Given the description of an element on the screen output the (x, y) to click on. 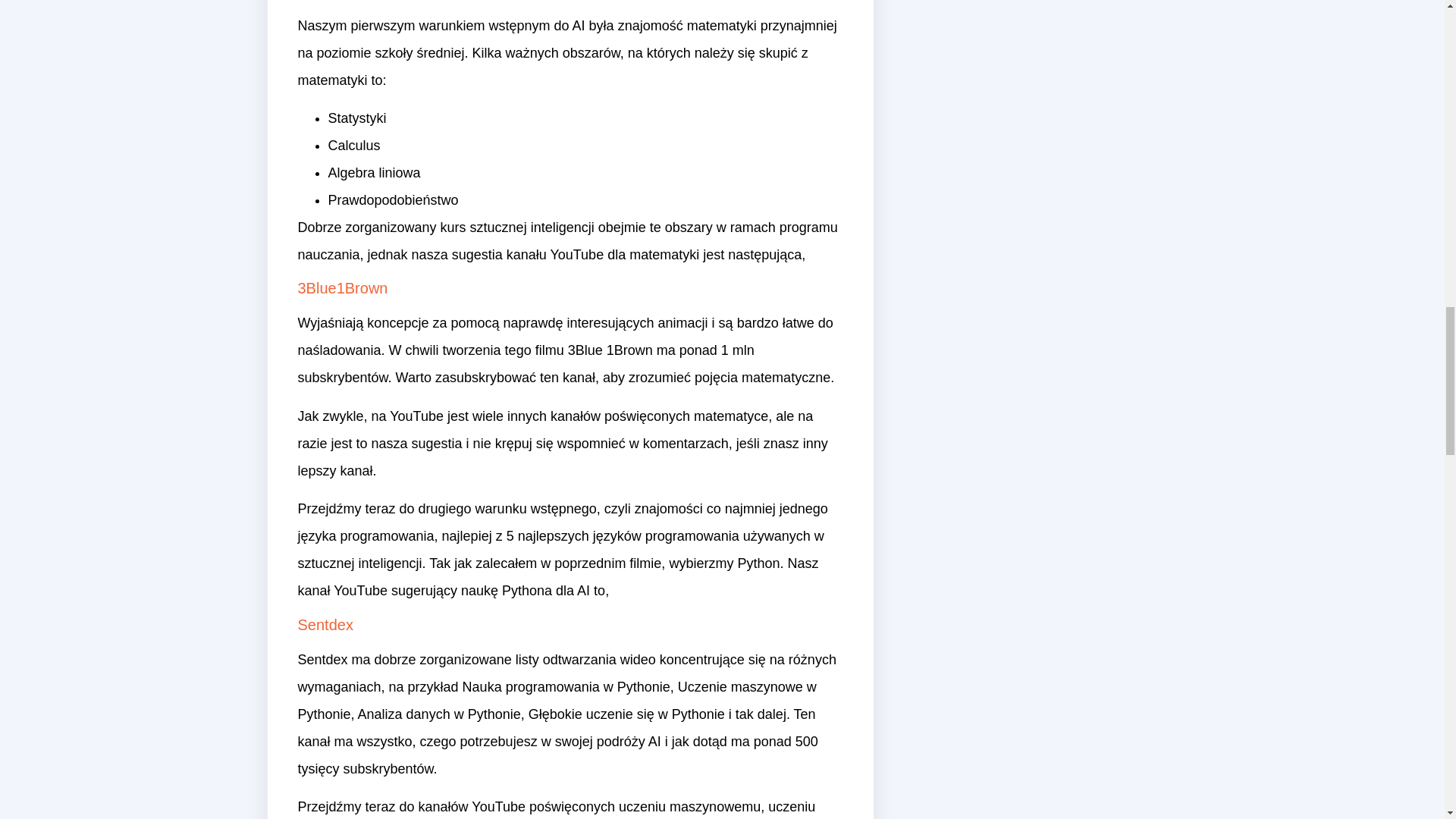
3Blue1Brown (342, 288)
Sentdex (324, 624)
